Given the description of an element on the screen output the (x, y) to click on. 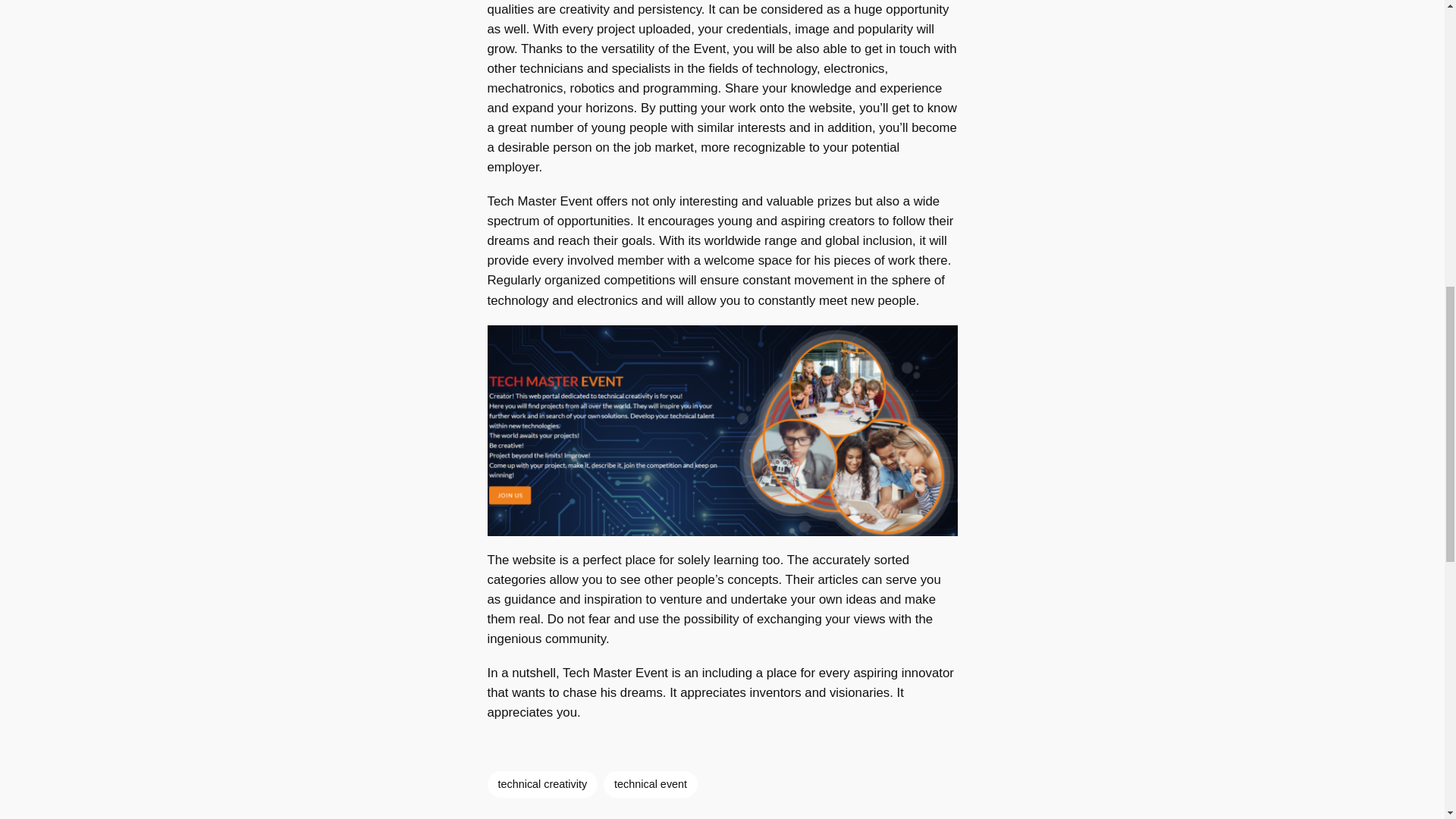
technical event (650, 783)
technical creativity (541, 783)
